Given the description of an element on the screen output the (x, y) to click on. 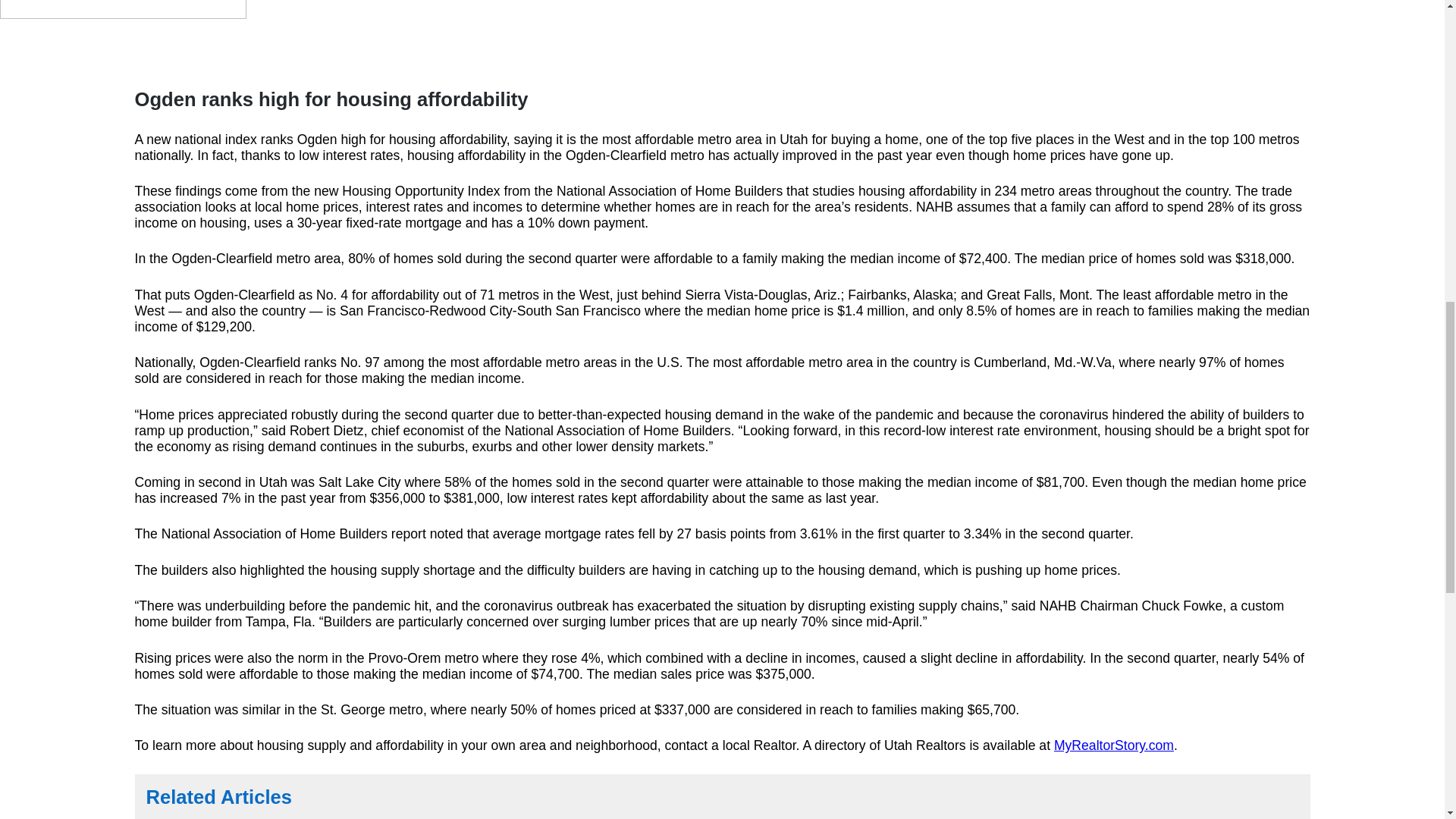
MyRealtorStory.com (1113, 744)
Search Properties (200, 64)
Consumer Resources (896, 64)
